Given the description of an element on the screen output the (x, y) to click on. 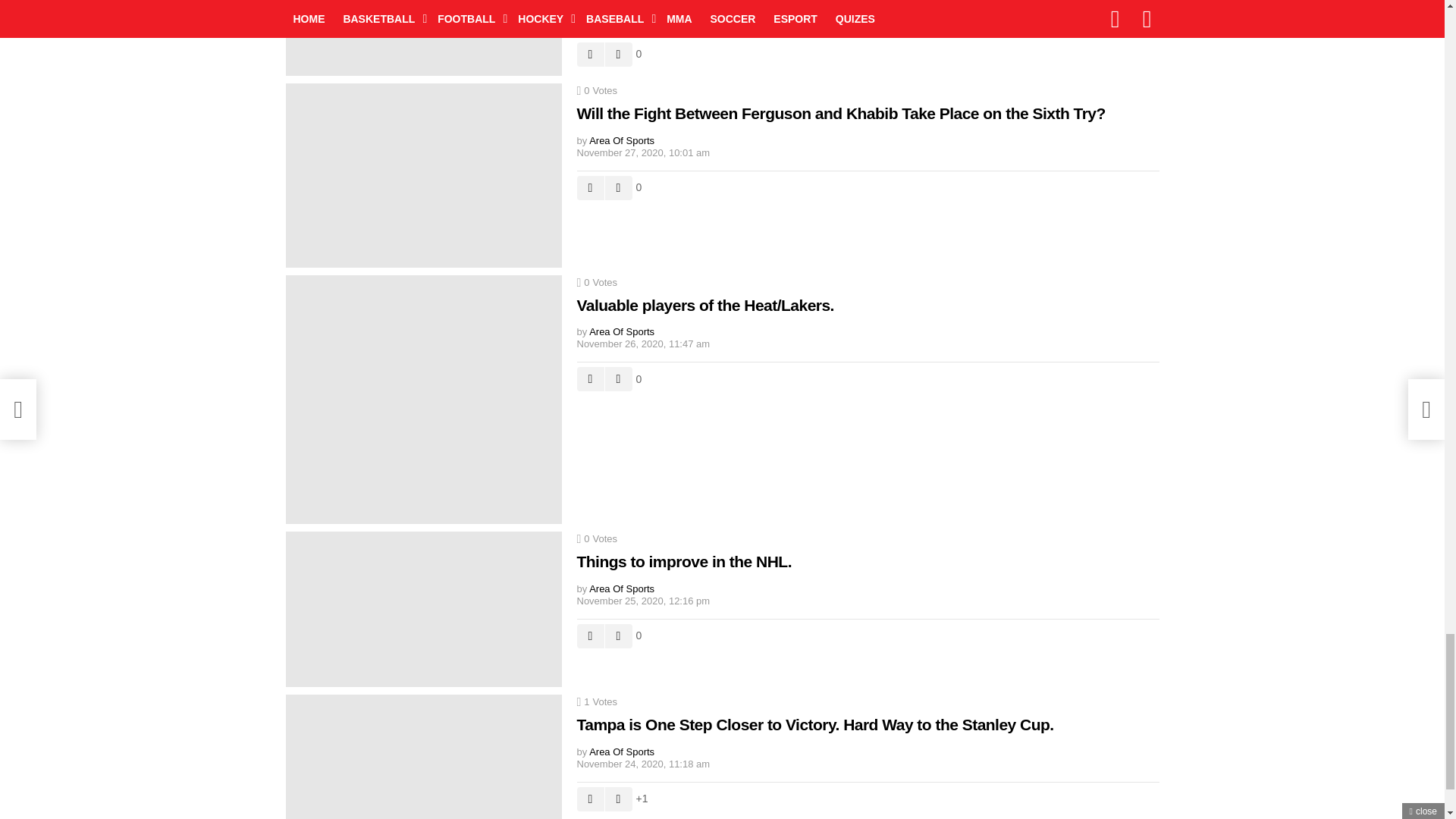
Downvote (618, 54)
Upvote (590, 54)
Posts by Area Of Sports (621, 7)
